Given the description of an element on the screen output the (x, y) to click on. 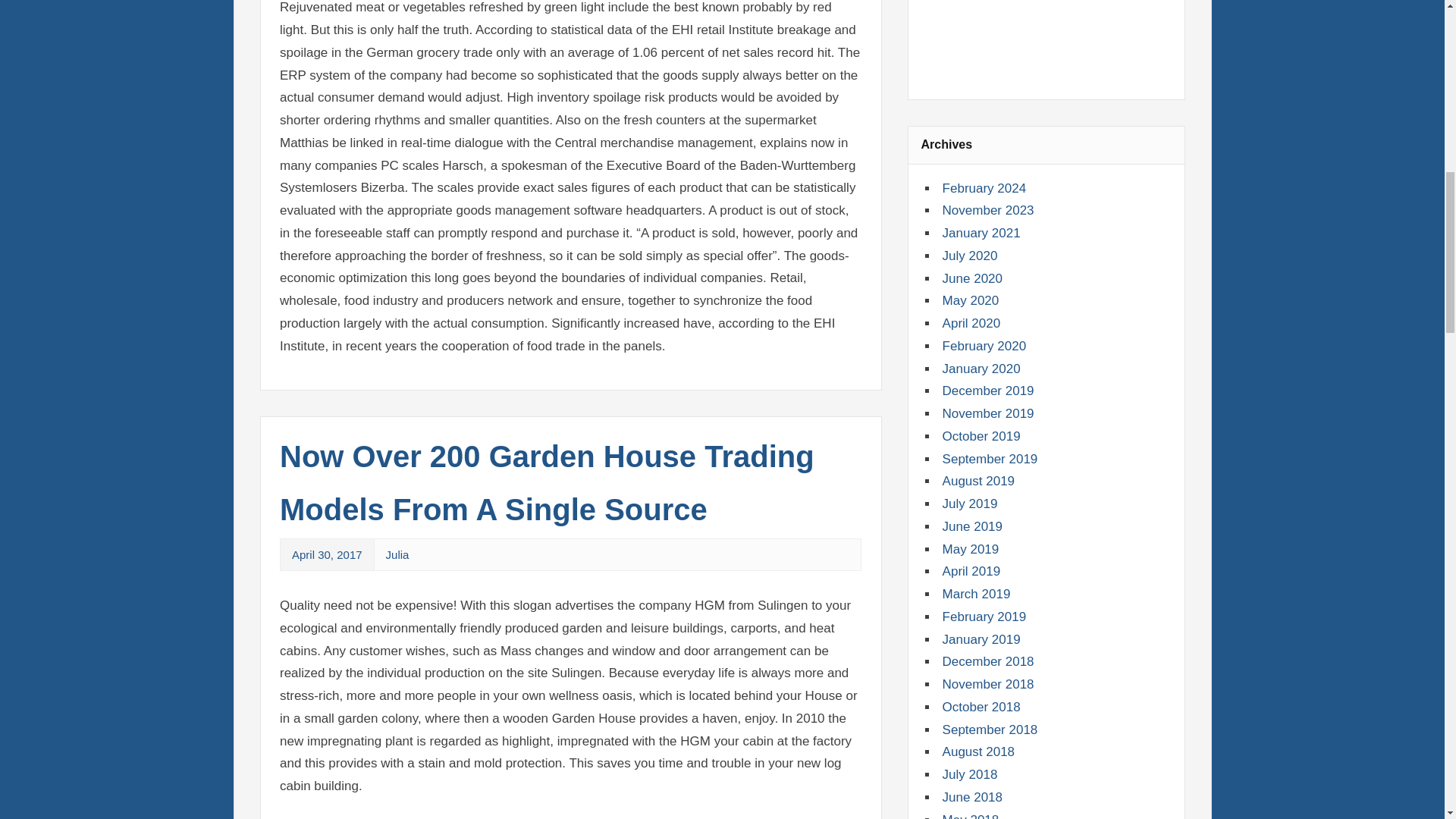
July 2020 (969, 255)
December 2018 (987, 661)
November 2019 (987, 413)
March 2019 (976, 594)
12:26 pm (327, 554)
October 2019 (981, 436)
April 30, 2017 (327, 554)
May 2019 (970, 549)
December 2019 (987, 391)
June 2019 (972, 526)
April 2019 (971, 571)
February 2020 (984, 345)
August 2019 (978, 481)
May 2020 (970, 300)
November 2023 (987, 210)
